Given the description of an element on the screen output the (x, y) to click on. 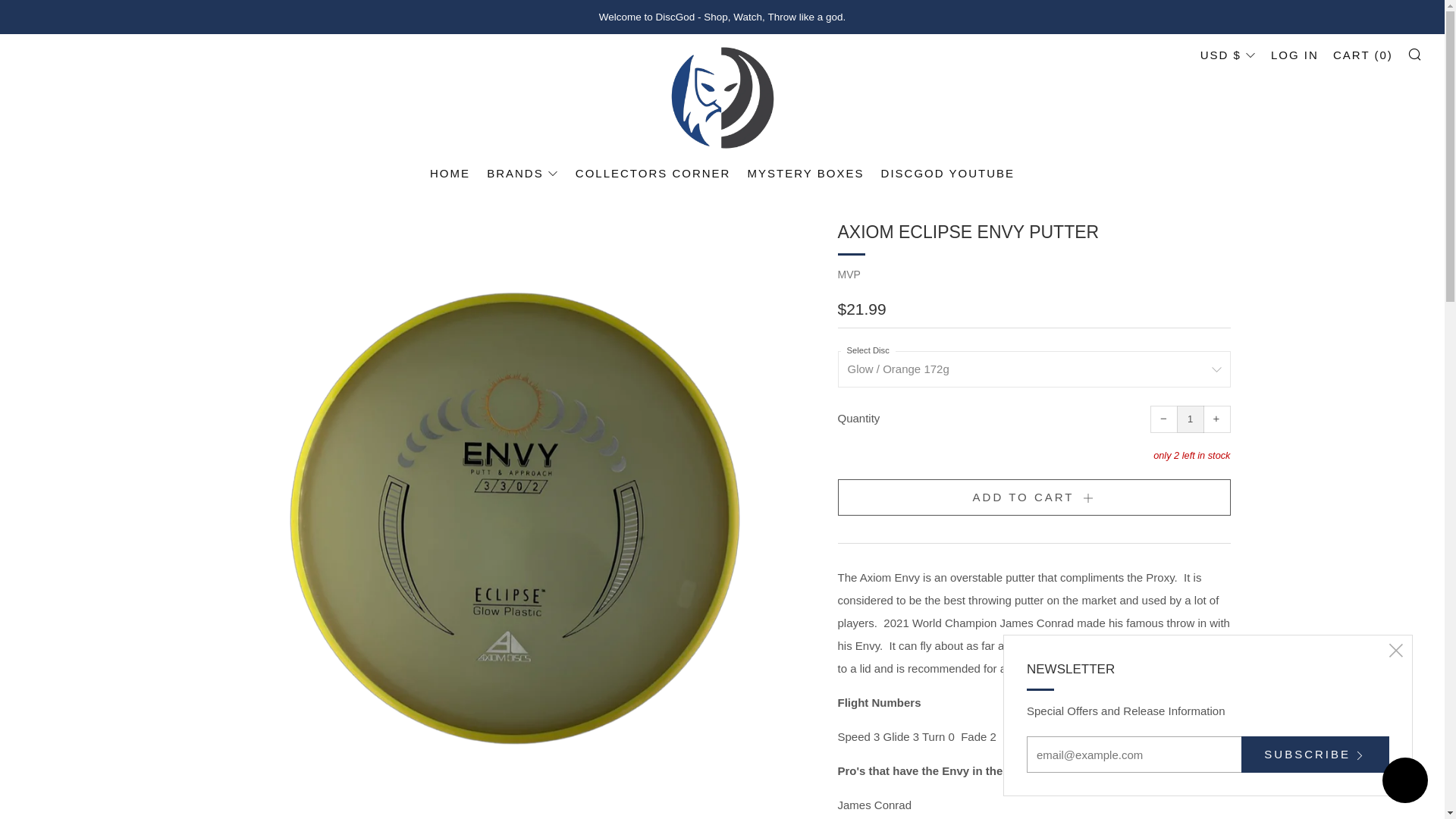
1 (1190, 419)
Shopify online store chat (1404, 781)
MVP (848, 274)
